Given the description of an element on the screen output the (x, y) to click on. 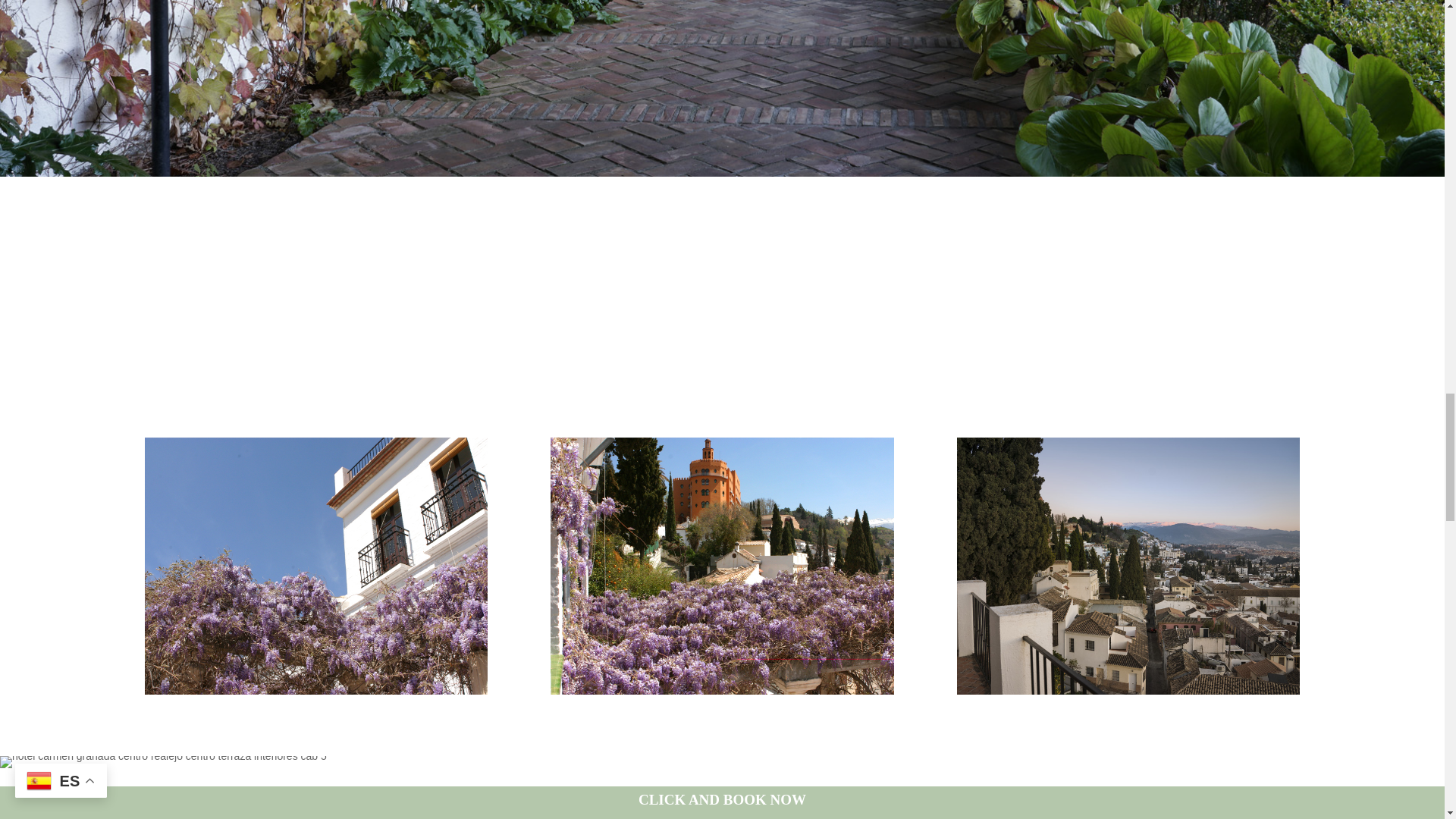
hotel boutique carmen centro granada vistas sierra nevada 5 (1128, 565)
